Given the description of an element on the screen output the (x, y) to click on. 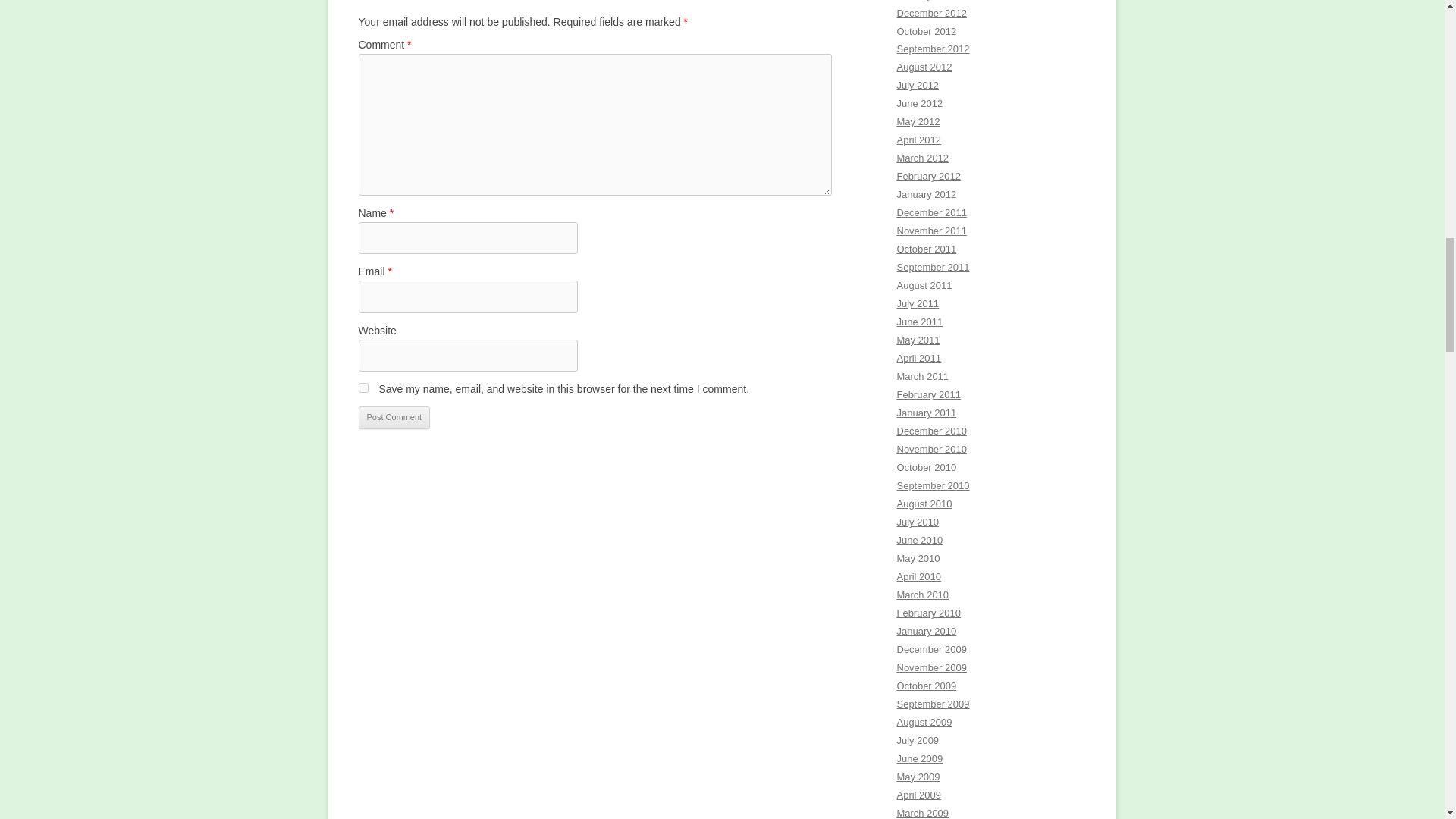
Post Comment (393, 417)
Post Comment (393, 417)
yes (363, 388)
